Given the description of an element on the screen output the (x, y) to click on. 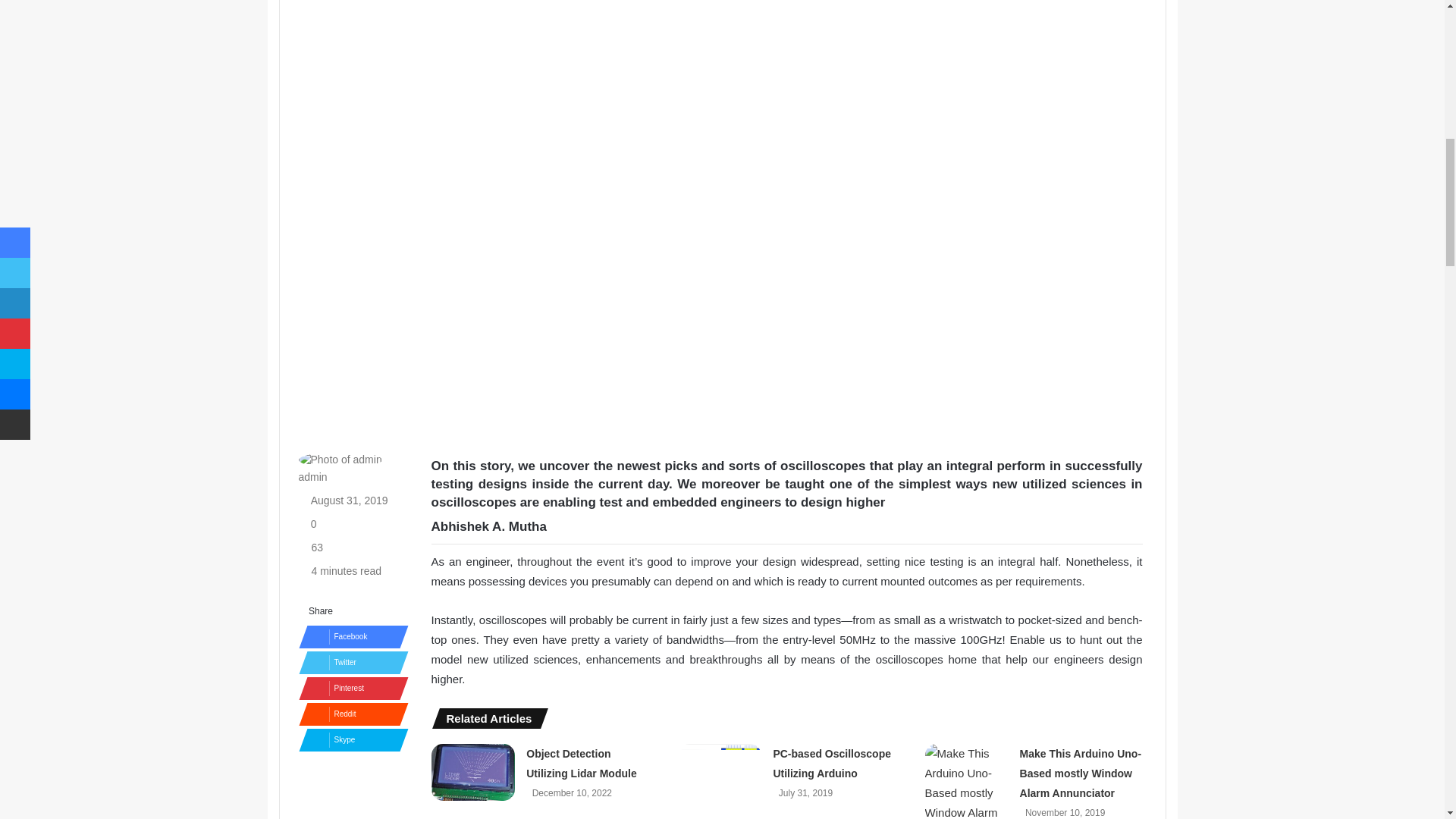
1564582631 PC based Oscilloscope Using Arduino (719, 766)
1670635809 Object Detection Using Lidar Module (472, 771)
